Given the description of an element on the screen output the (x, y) to click on. 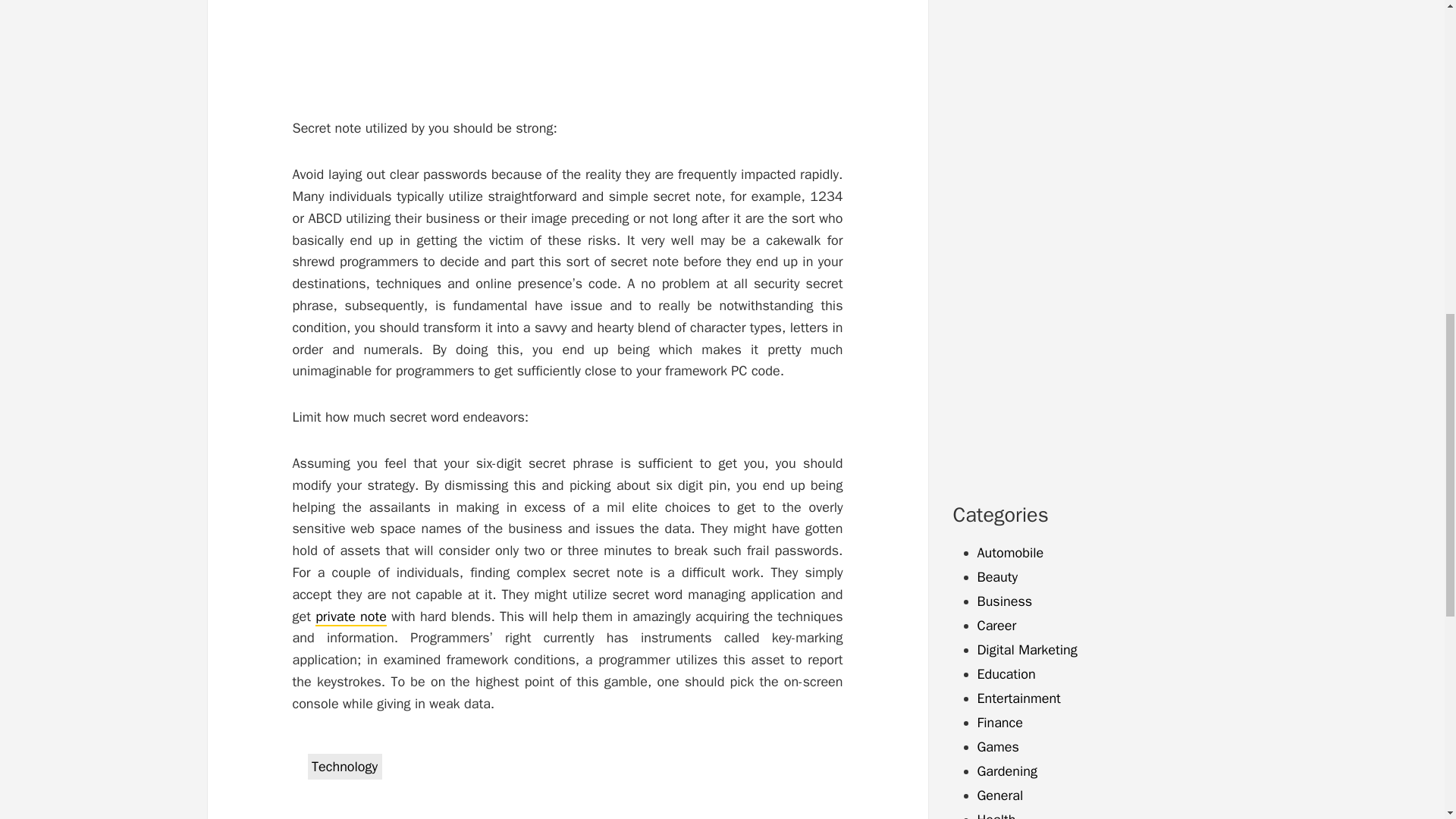
Entertainment (1017, 698)
Career (996, 625)
Beauty (996, 576)
Games (996, 746)
private note (351, 617)
Gardening (1006, 770)
General (999, 795)
Technology (344, 766)
Education (1005, 673)
Digital Marketing (1026, 649)
